Given the description of an element on the screen output the (x, y) to click on. 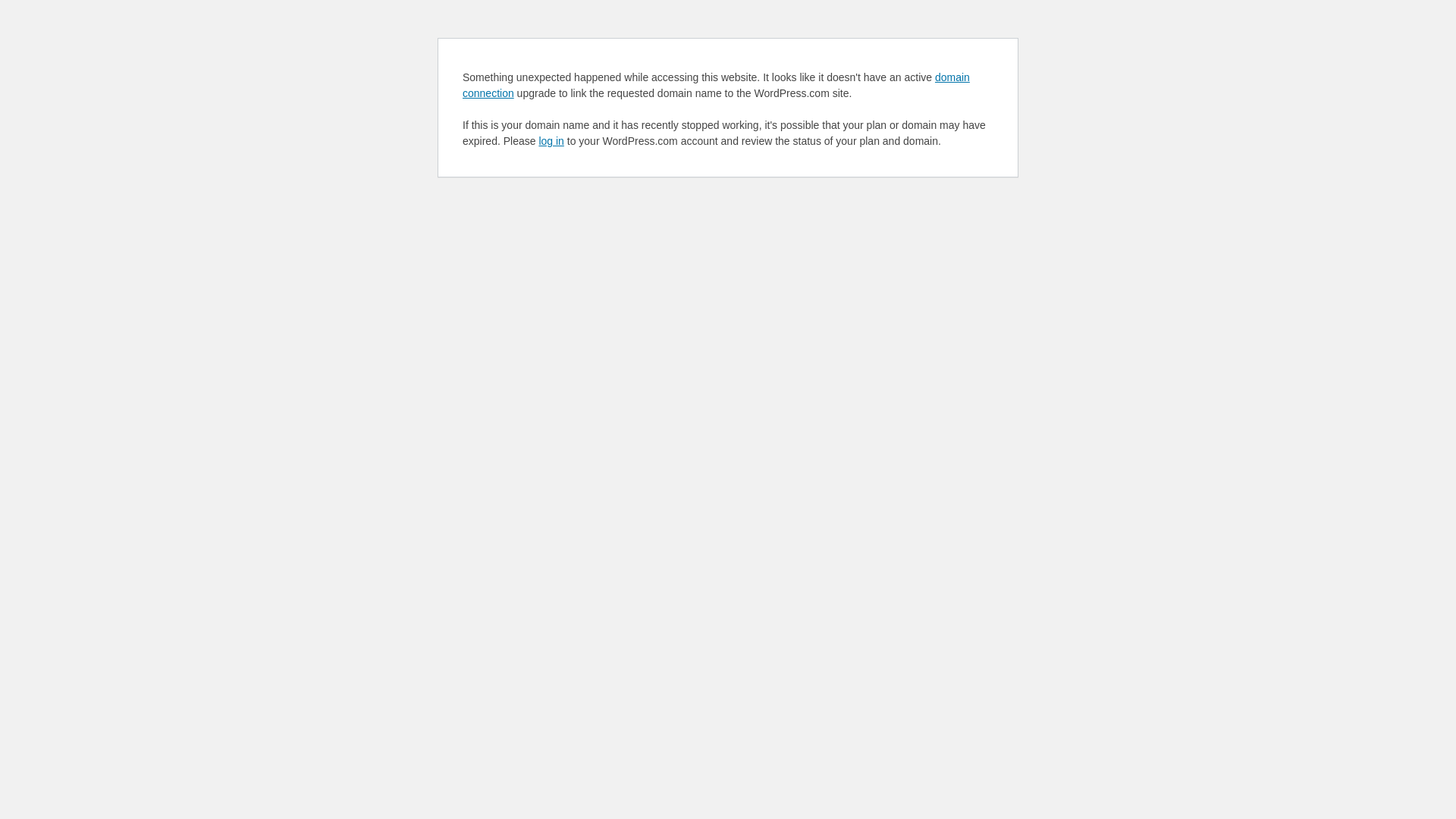
domain connection Element type: text (715, 85)
log in Element type: text (550, 140)
